Given the description of an element on the screen output the (x, y) to click on. 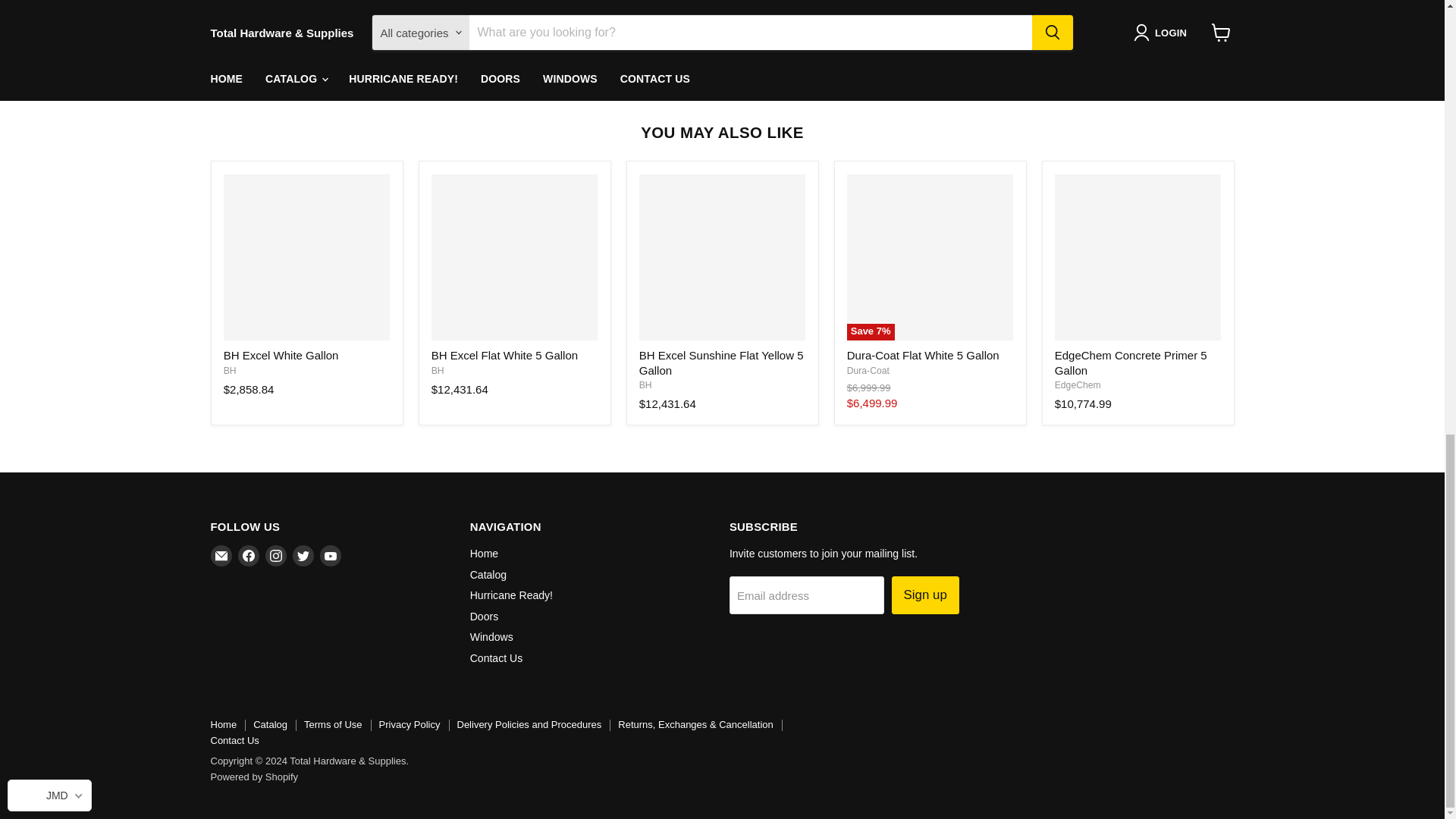
BH (437, 370)
BH (229, 370)
Dura-Coat (868, 370)
BH (645, 385)
